Given the description of an element on the screen output the (x, y) to click on. 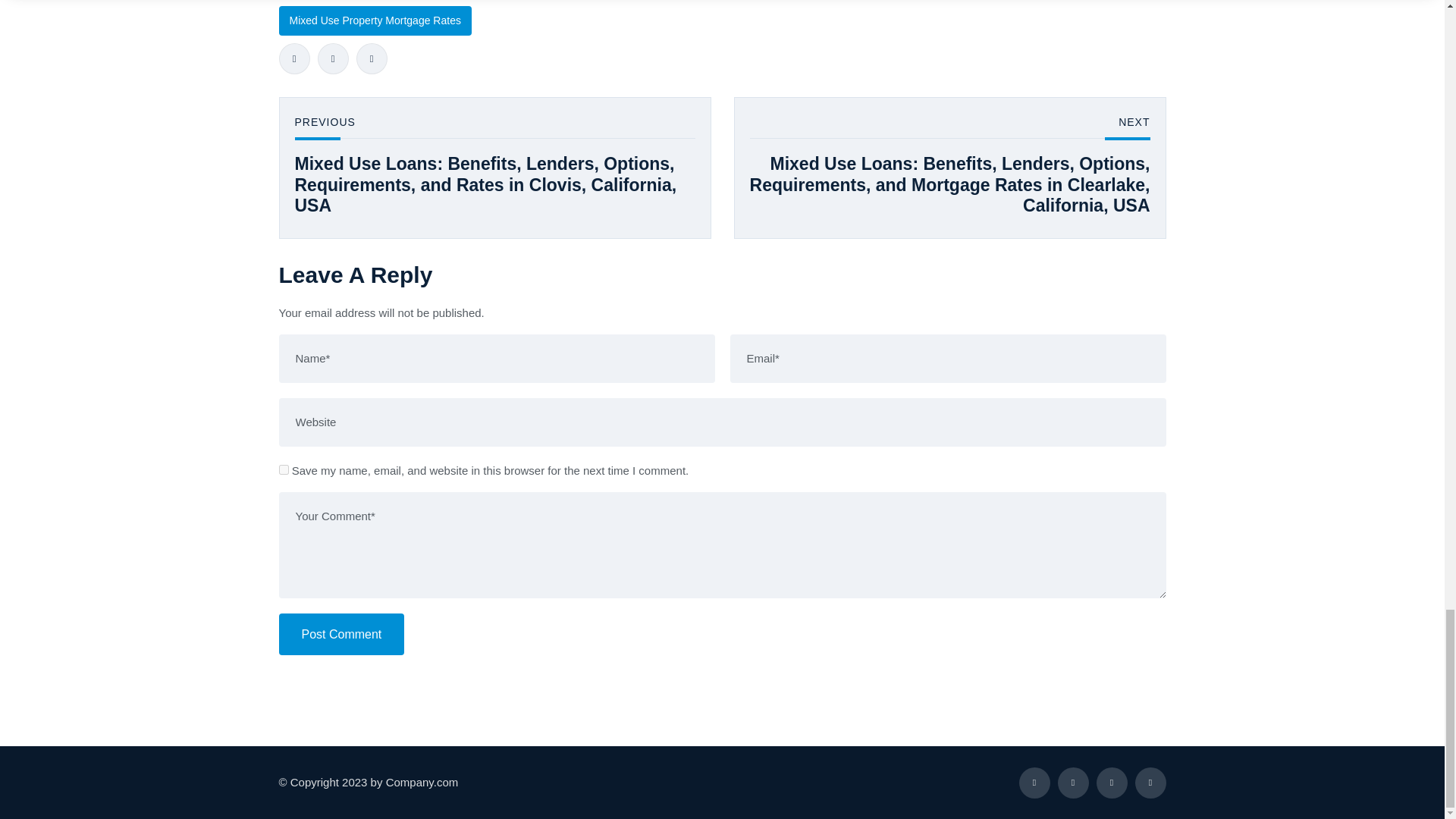
Linkedin (371, 58)
Twitter (332, 58)
Facebook (294, 58)
yes (283, 470)
